Given the description of an element on the screen output the (x, y) to click on. 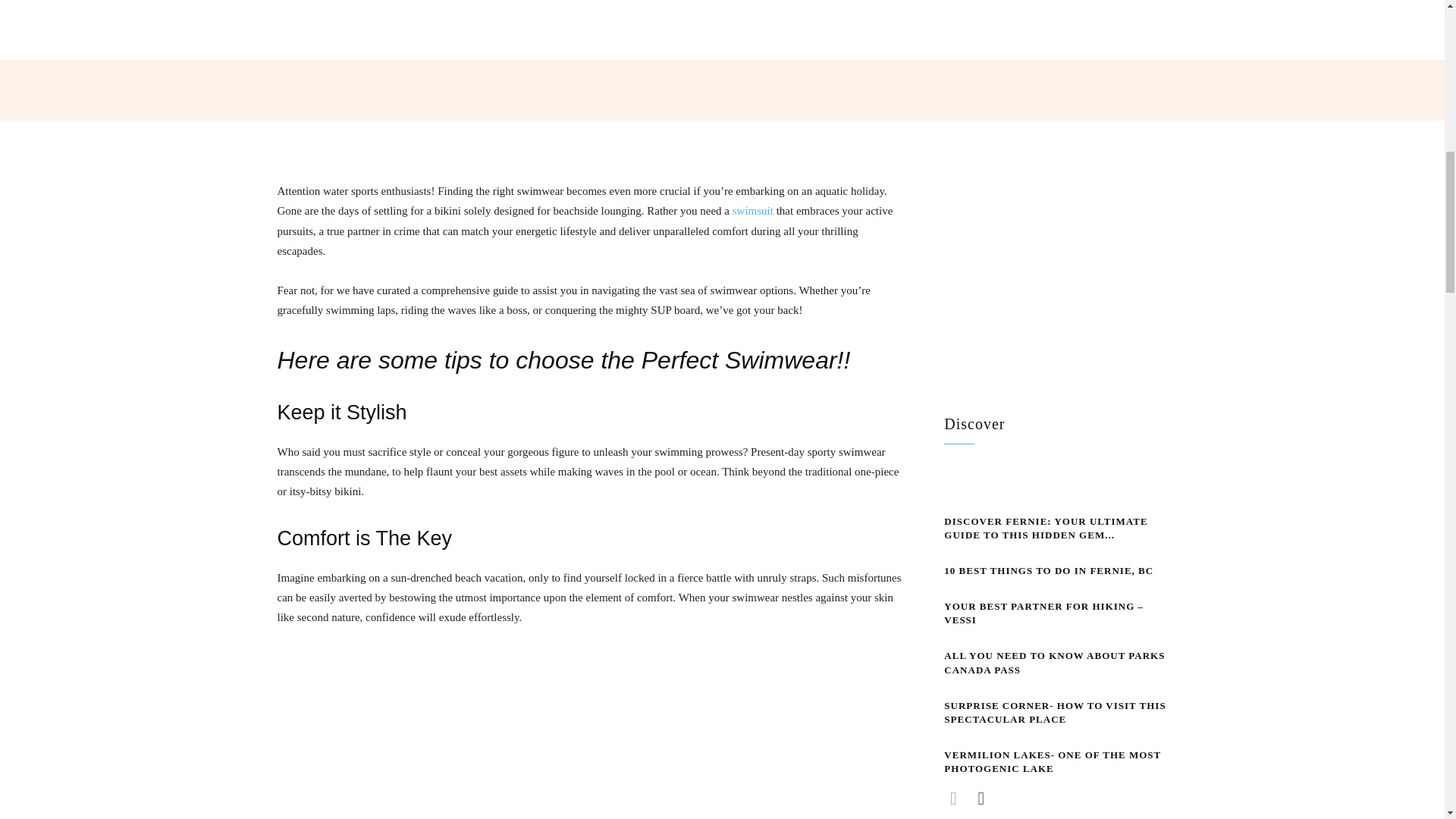
swimsuit (752, 210)
